Given the description of an element on the screen output the (x, y) to click on. 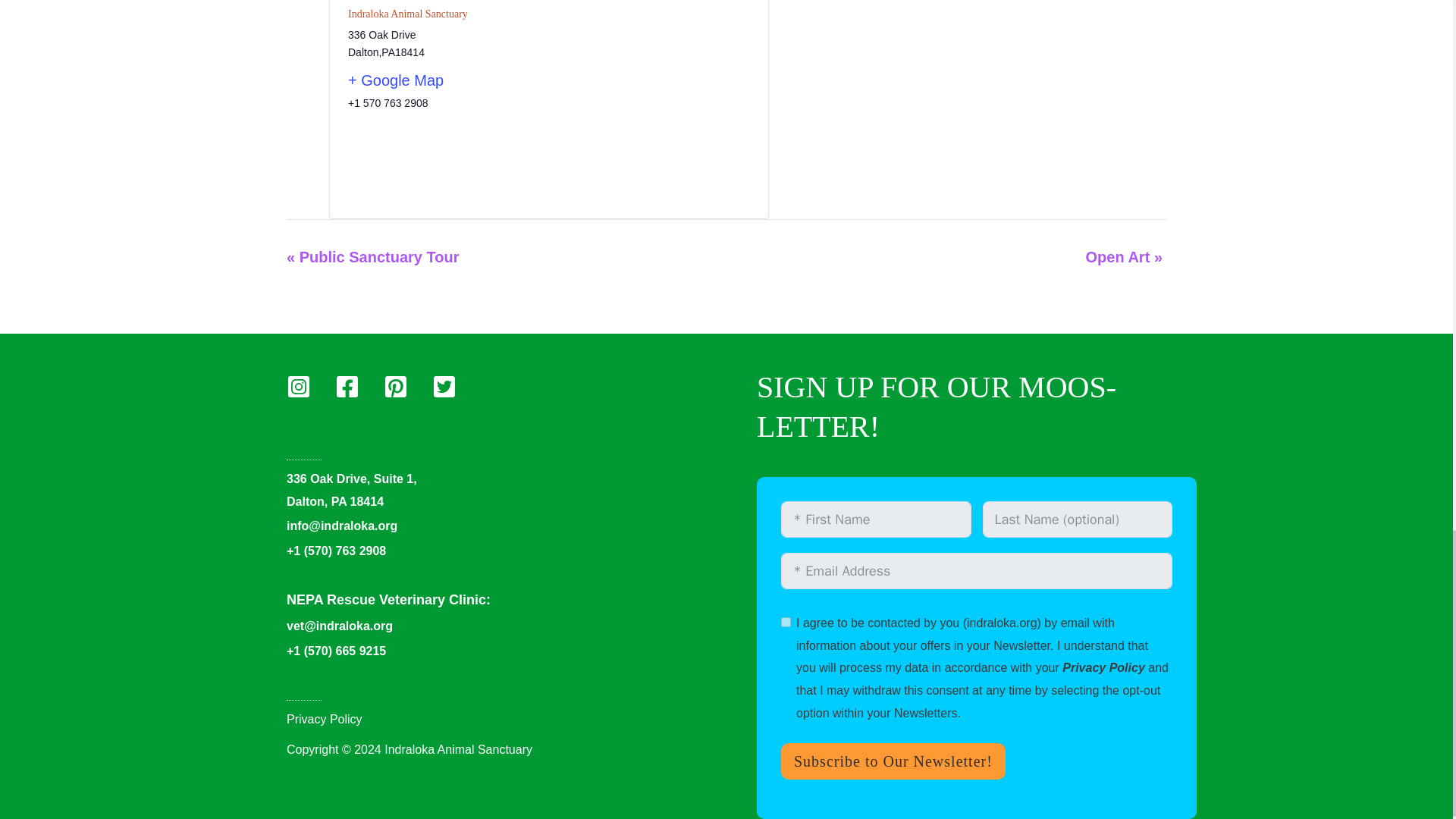
Pennsylvania (387, 51)
on (785, 622)
Click to view a Google Map (442, 80)
NEPA Rescue Veterinary Clinic: (388, 599)
